Given the description of an element on the screen output the (x, y) to click on. 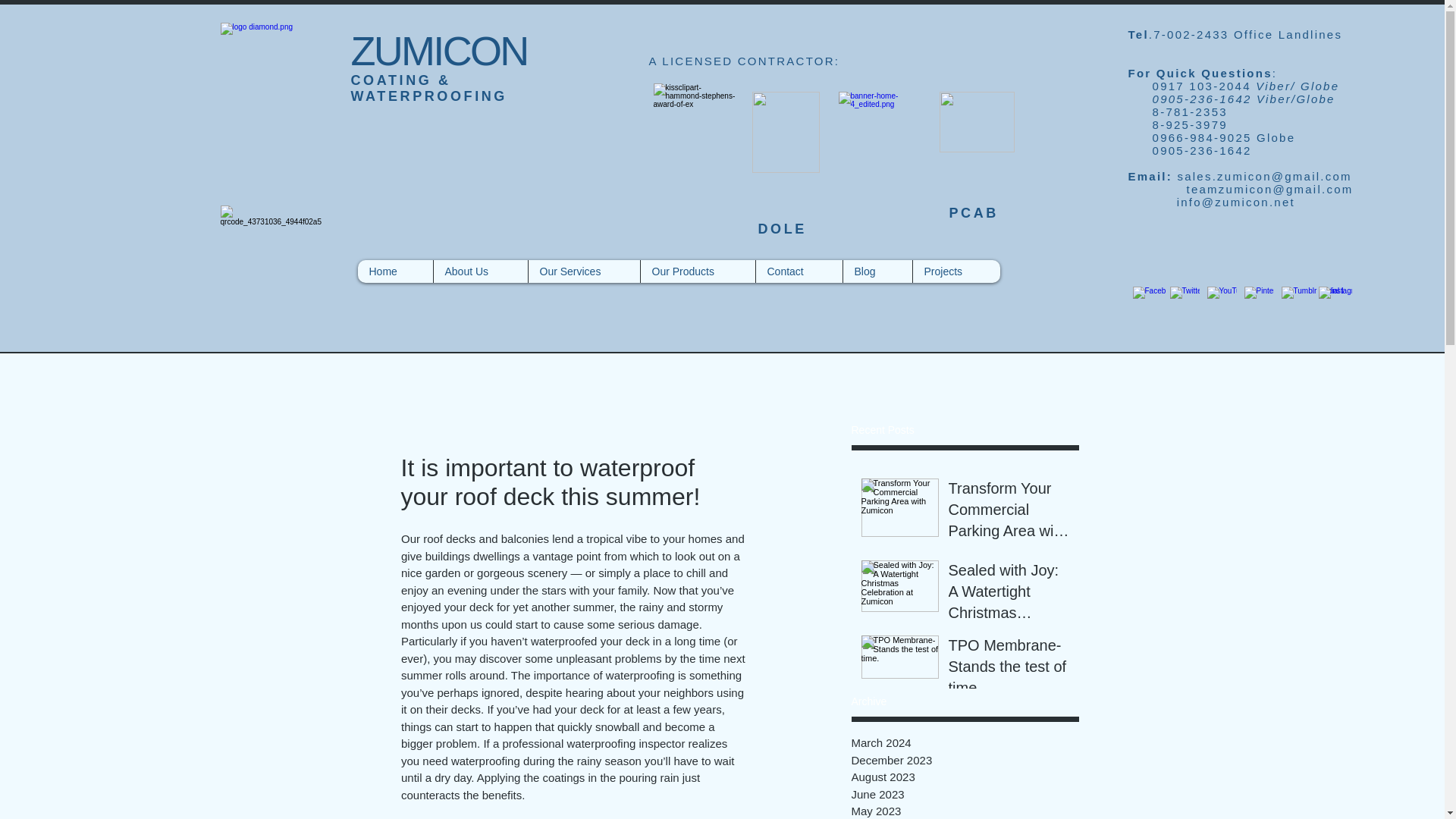
December 2023 (964, 760)
About Us (479, 271)
Our Services (583, 271)
Home (395, 271)
August 2023 (964, 777)
June 2023 (964, 794)
Transform Your Commercial Parking Area with Zumicon (1007, 512)
March 2024 (964, 743)
TPO Membrane-Stands the test of time. (1007, 669)
